Given the description of an element on the screen output the (x, y) to click on. 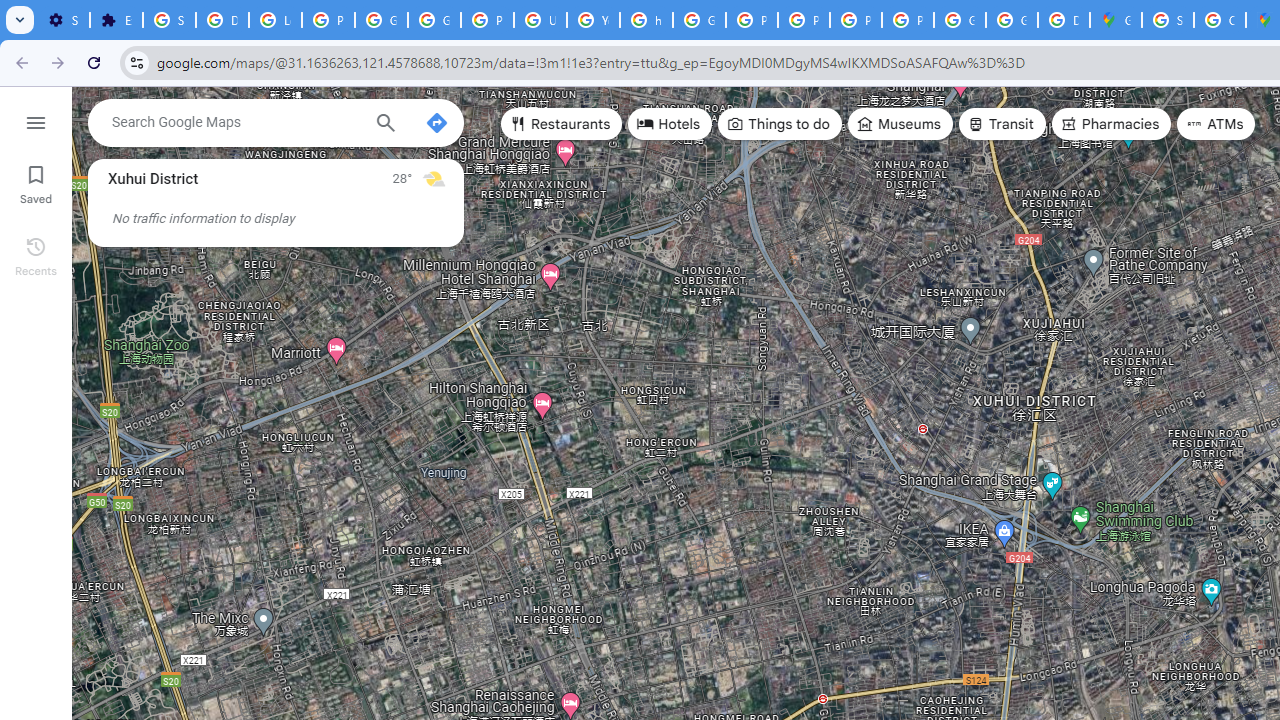
Menu (35, 120)
Museums (900, 124)
Privacy Help Center - Policies Help (751, 20)
Search Google Maps (235, 121)
Hotels (670, 124)
Google Maps (1115, 20)
Mostly sunny (433, 178)
Things to do (780, 124)
